Given the description of an element on the screen output the (x, y) to click on. 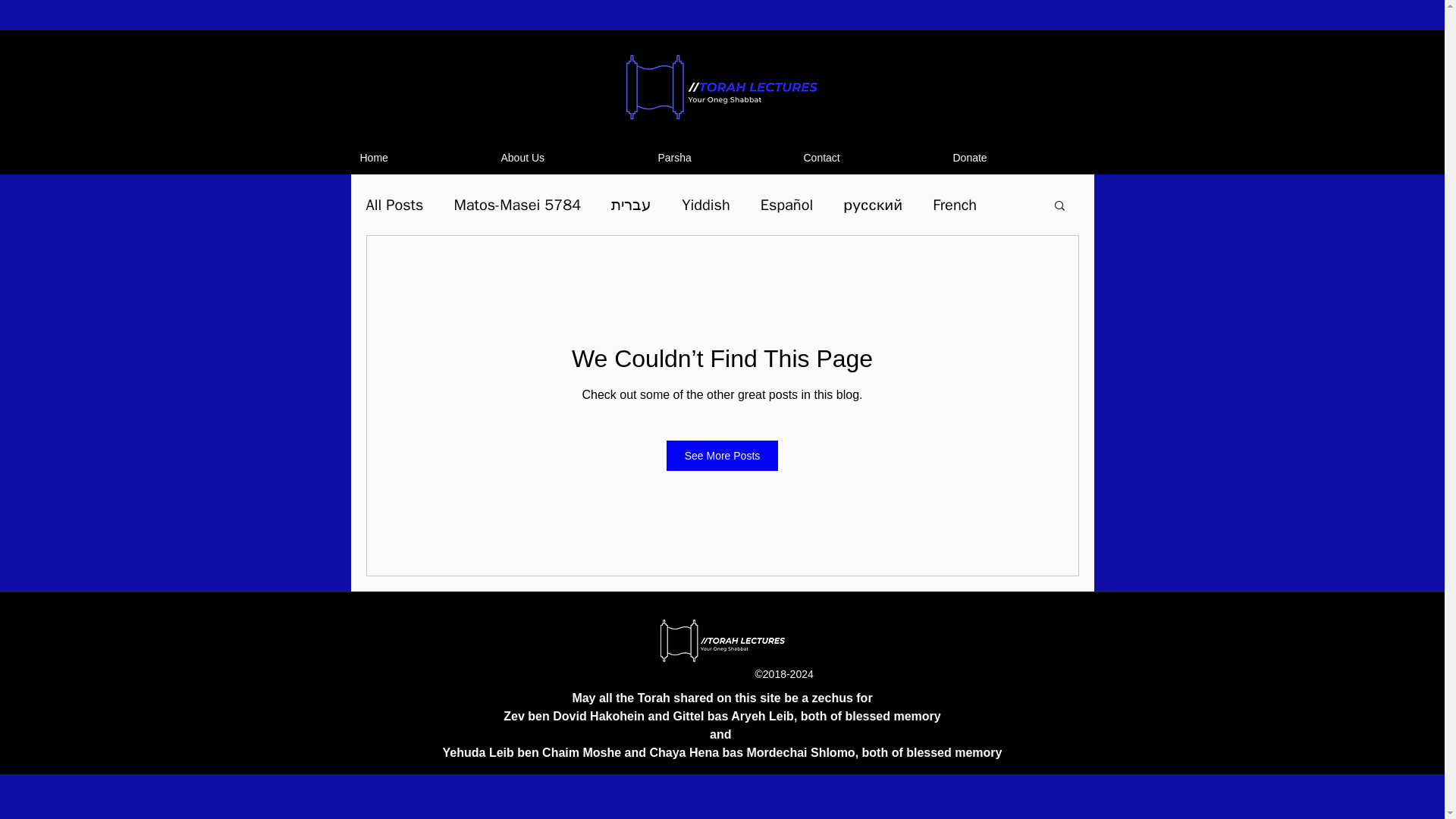
Home (422, 157)
French (954, 204)
All Posts (394, 204)
Contact (870, 157)
Matos-Masei 5784 (516, 204)
Donate (1017, 157)
See More Posts (722, 455)
Yiddish (705, 204)
Parsha (723, 157)
About Us (571, 157)
